Given the description of an element on the screen output the (x, y) to click on. 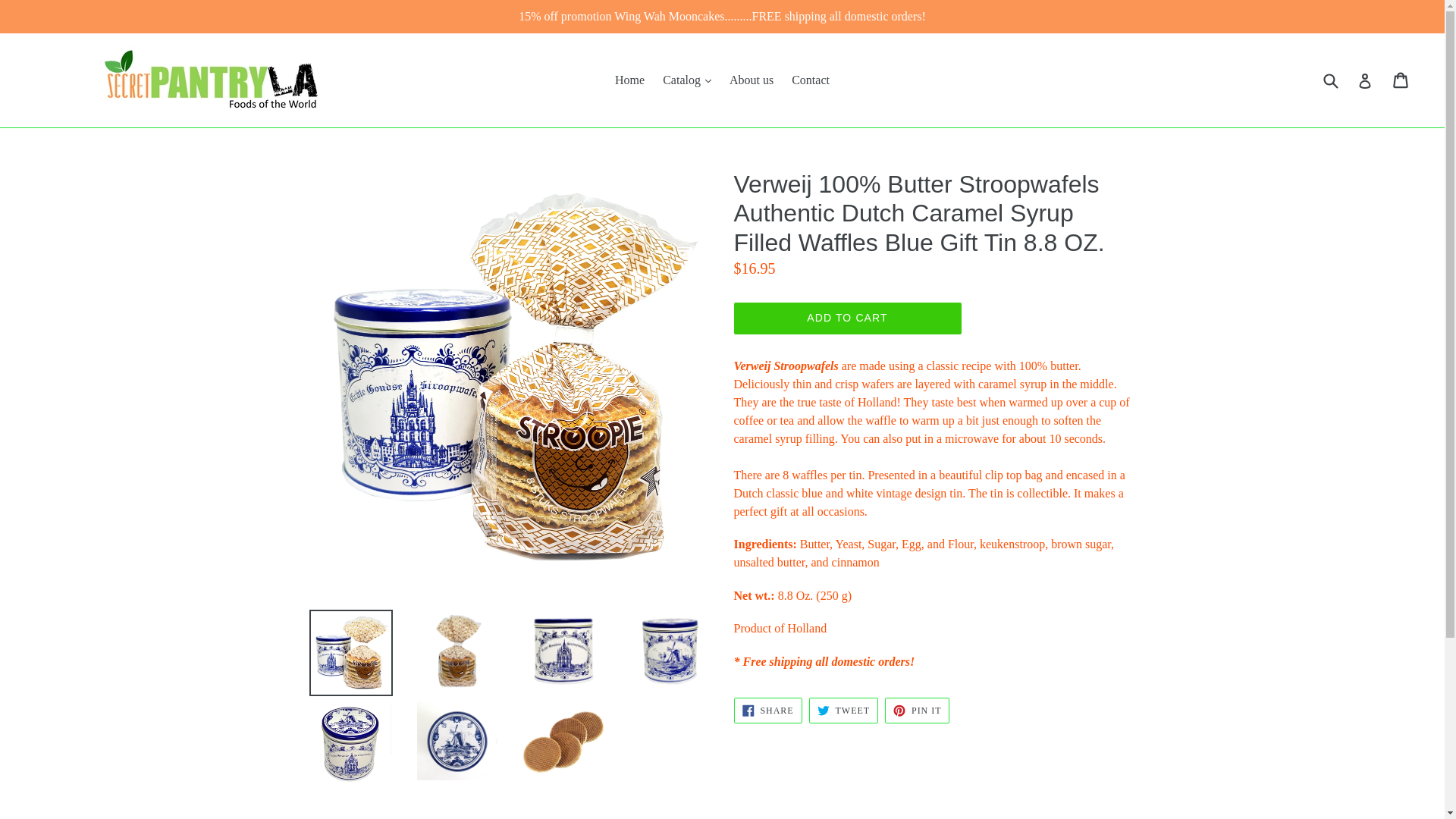
About us (751, 79)
Pin on Pinterest (917, 710)
Tweet on Twitter (843, 710)
Contact (810, 79)
Home (629, 79)
Share on Facebook (767, 710)
